Given the description of an element on the screen output the (x, y) to click on. 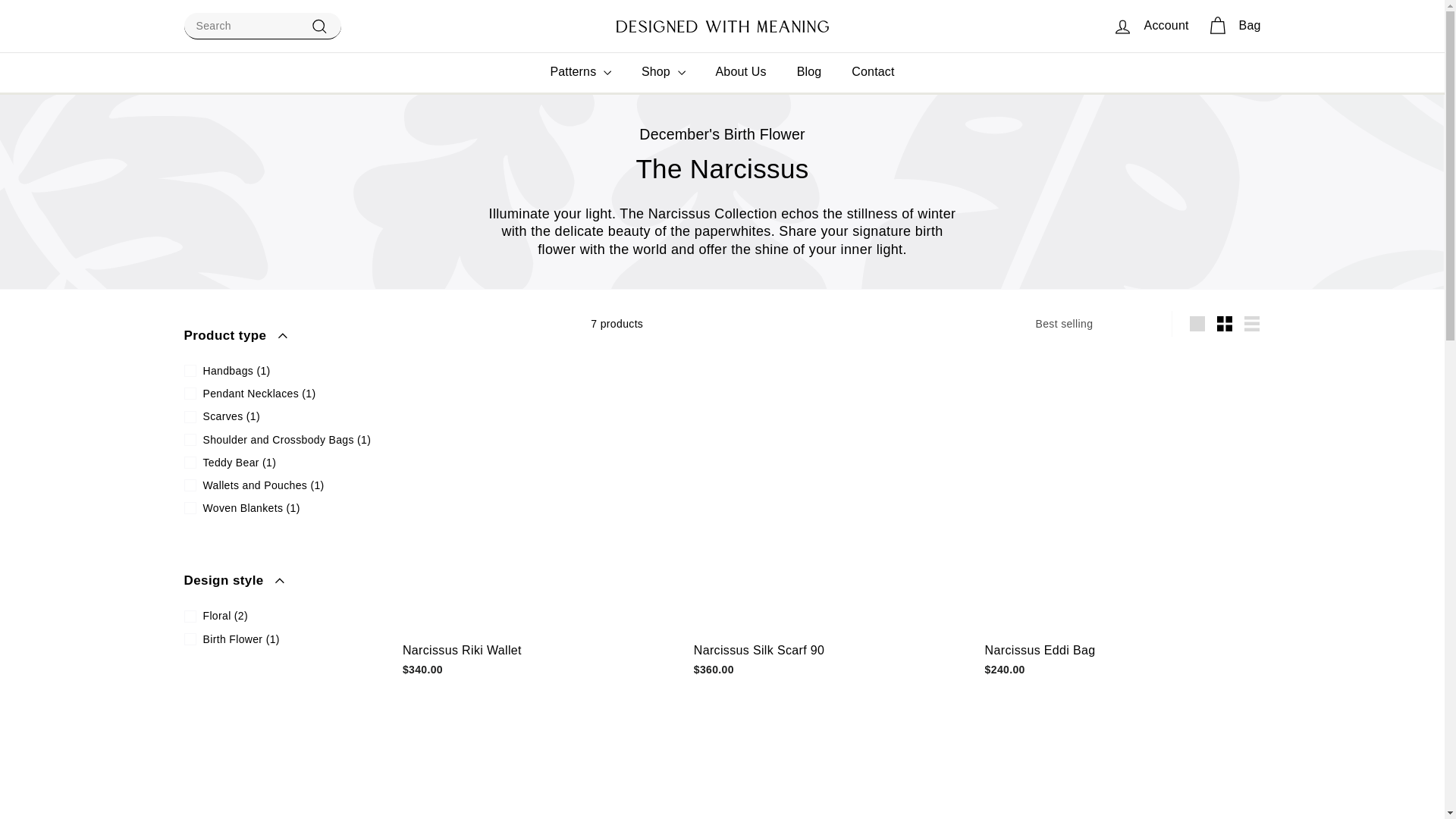
Small (1225, 323)
List (1252, 323)
Bag (1233, 26)
Large (1197, 323)
Account (1150, 26)
